Given the description of an element on the screen output the (x, y) to click on. 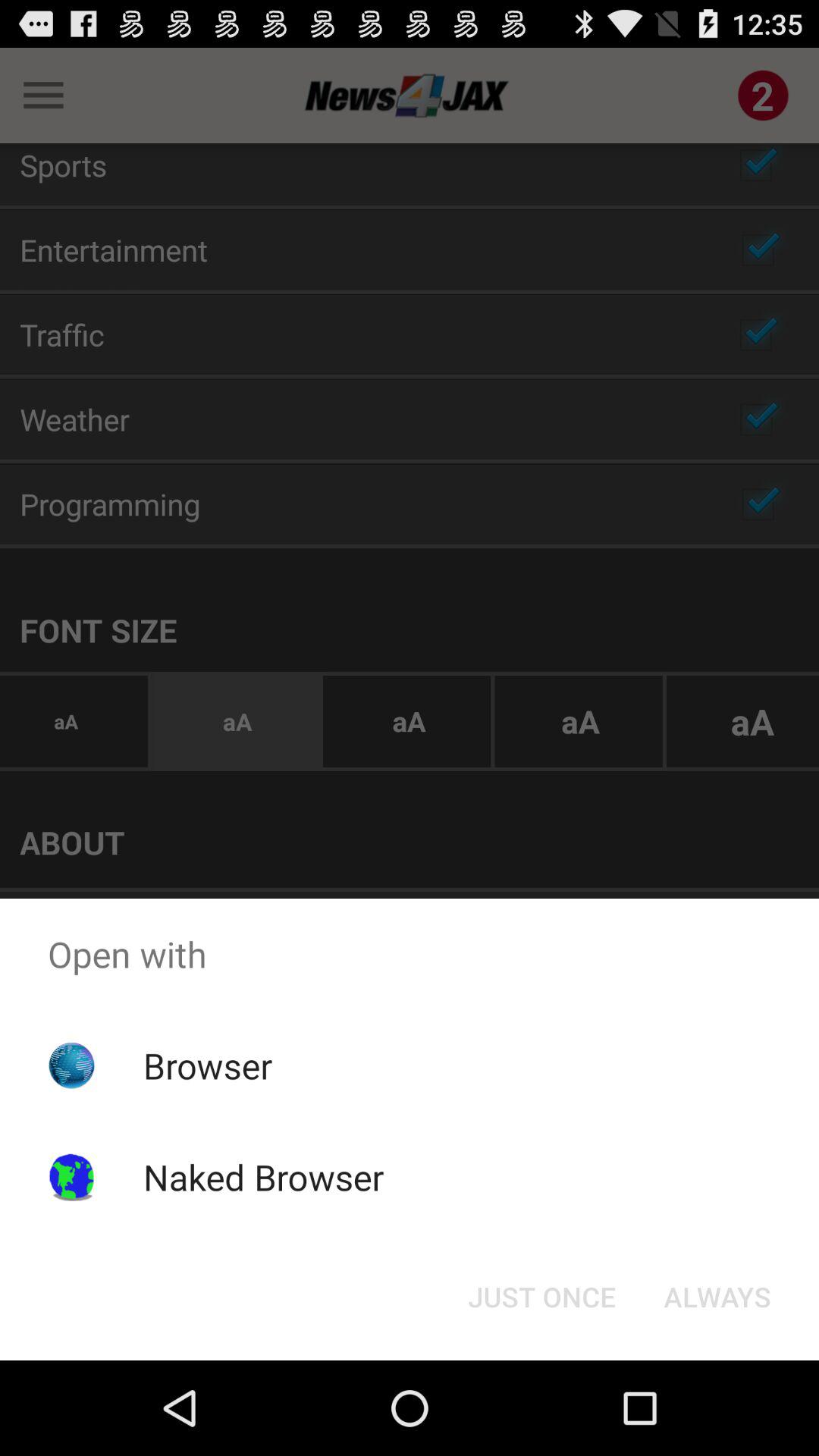
press item below the open with icon (541, 1296)
